Given the description of an element on the screen output the (x, y) to click on. 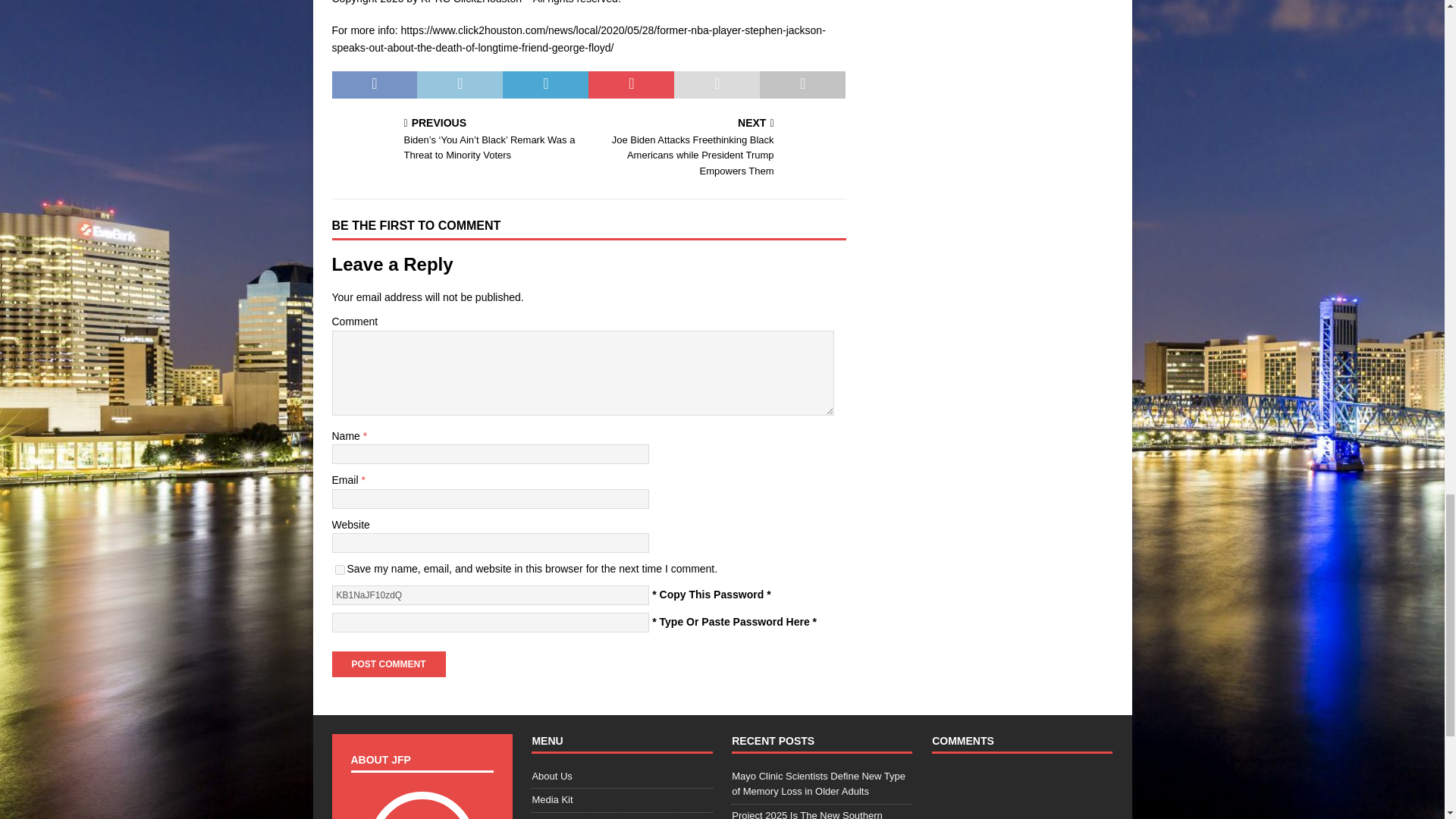
Post Comment (388, 663)
KB1NaJF10zdQ (490, 595)
yes (339, 569)
